Given the description of an element on the screen output the (x, y) to click on. 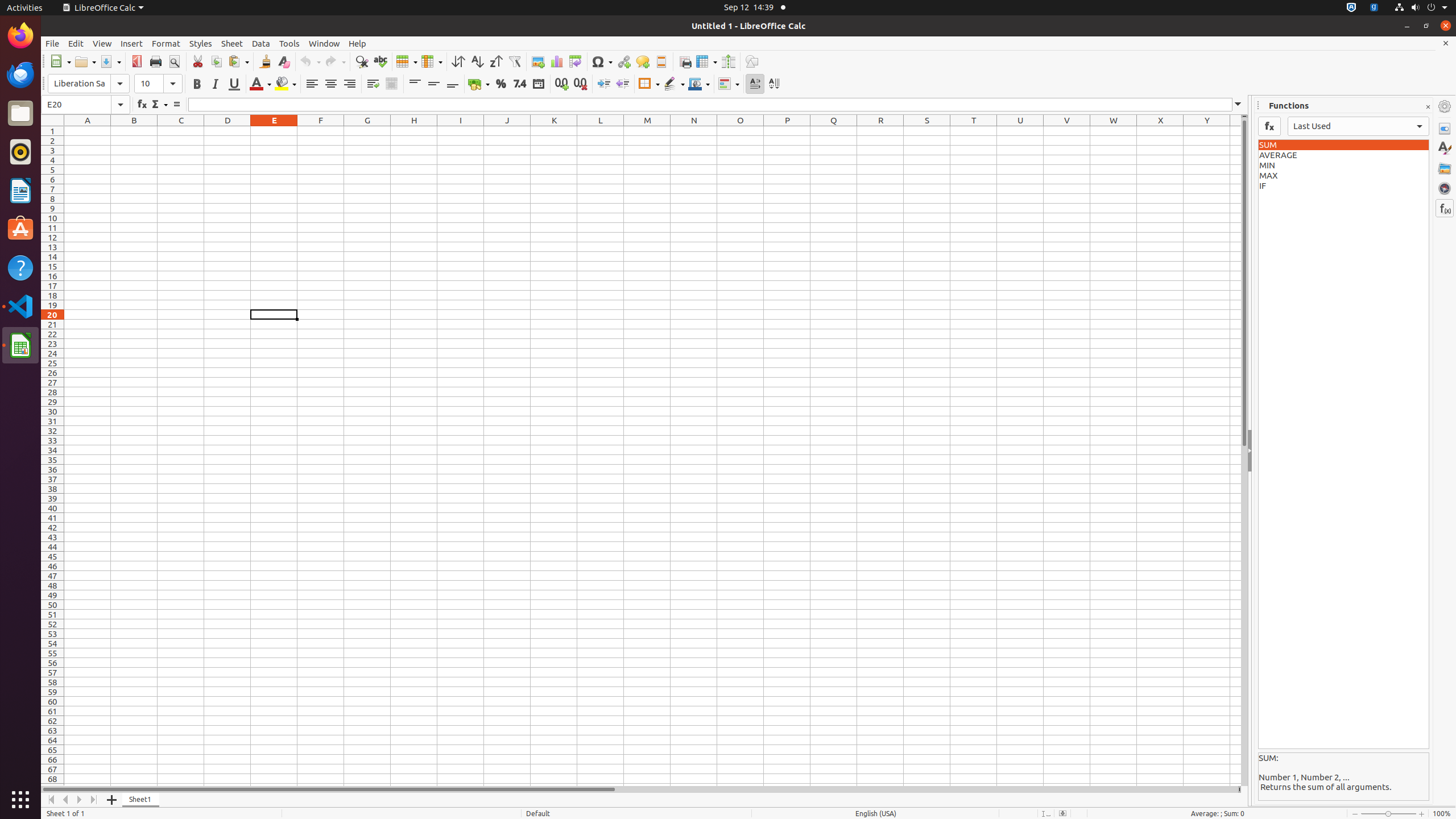
A1 Element type: table-cell (87, 130)
Merge and Center Cells Element type: push-button (391, 83)
F1 Element type: table-cell (320, 130)
Q1 Element type: table-cell (833, 130)
Comment Element type: push-button (642, 61)
